Given the description of an element on the screen output the (x, y) to click on. 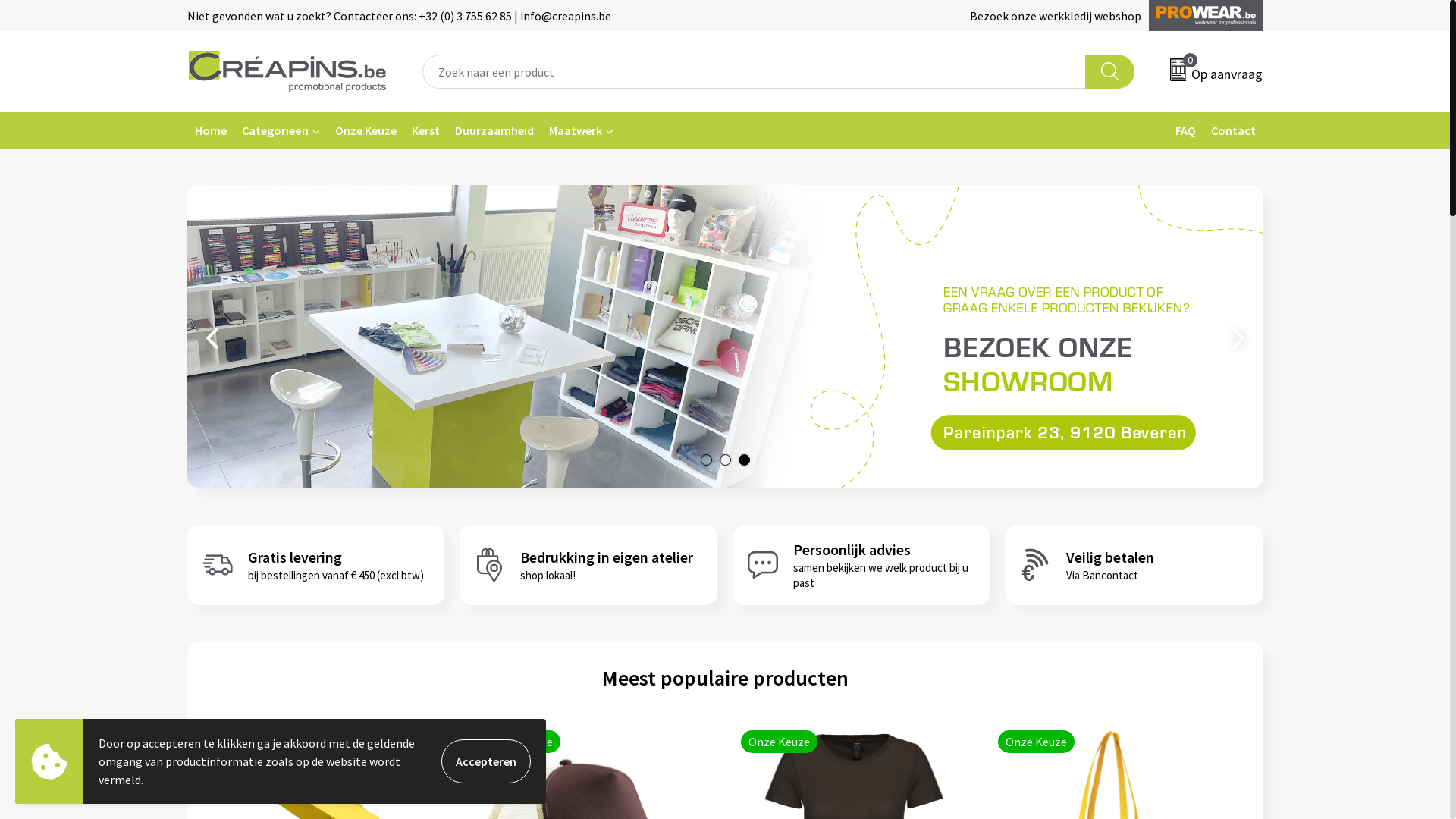
1 Element type: text (706, 459)
Kerst Element type: text (424, 130)
2 Element type: text (724, 459)
Contact Element type: text (1232, 130)
FAQ Element type: text (1185, 130)
Maatwerk Element type: text (581, 130)
Next Element type: text (1235, 336)
Prev Element type: text (213, 336)
3 Element type: text (743, 459)
Onze Keuze Element type: text (365, 130)
Home Element type: text (209, 130)
Duurzaamheid Element type: text (494, 130)
